Given the description of an element on the screen output the (x, y) to click on. 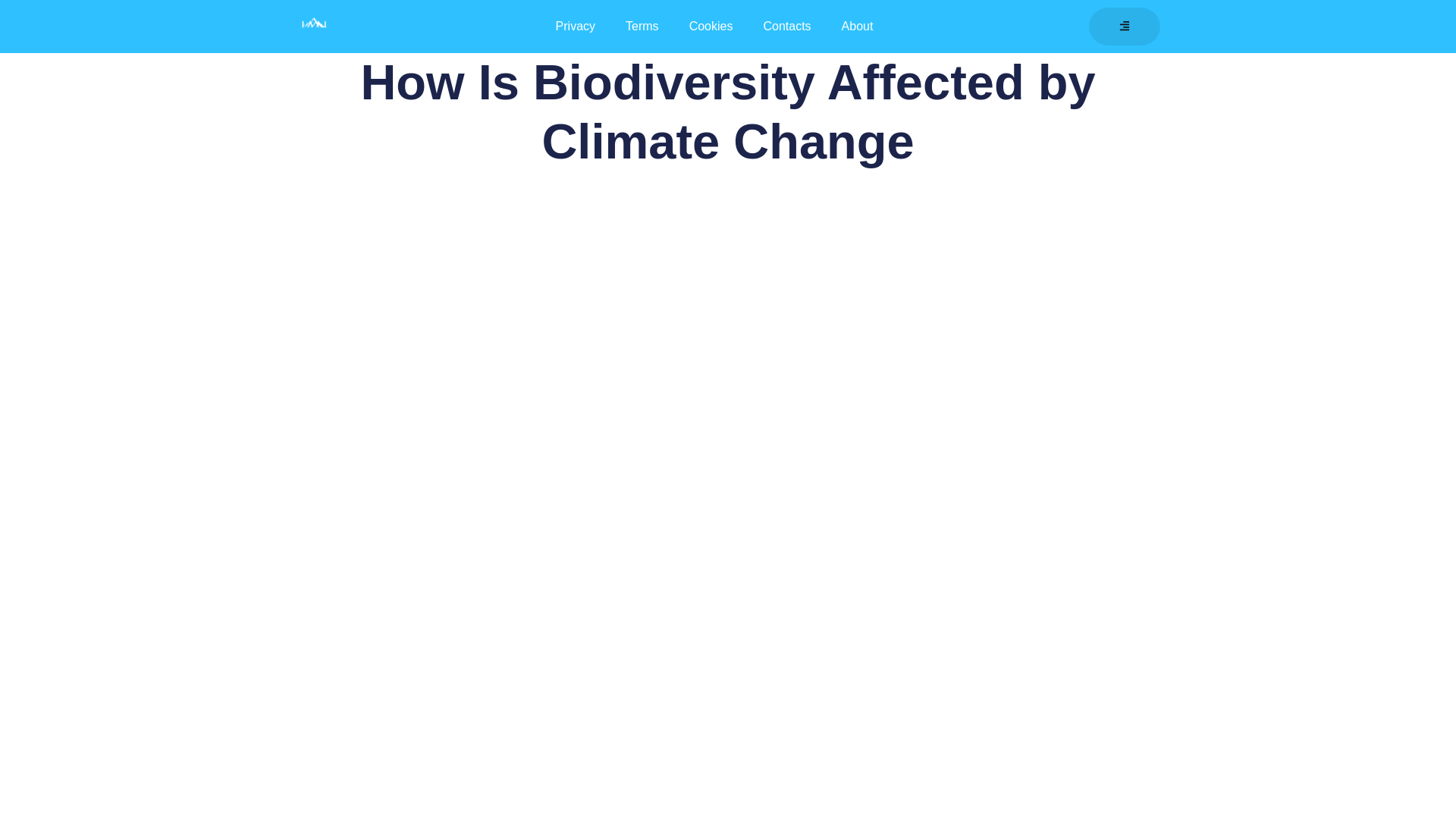
Cookies (711, 26)
Privacy (575, 26)
About (857, 26)
Contacts (786, 26)
Terms (642, 26)
